Given the description of an element on the screen output the (x, y) to click on. 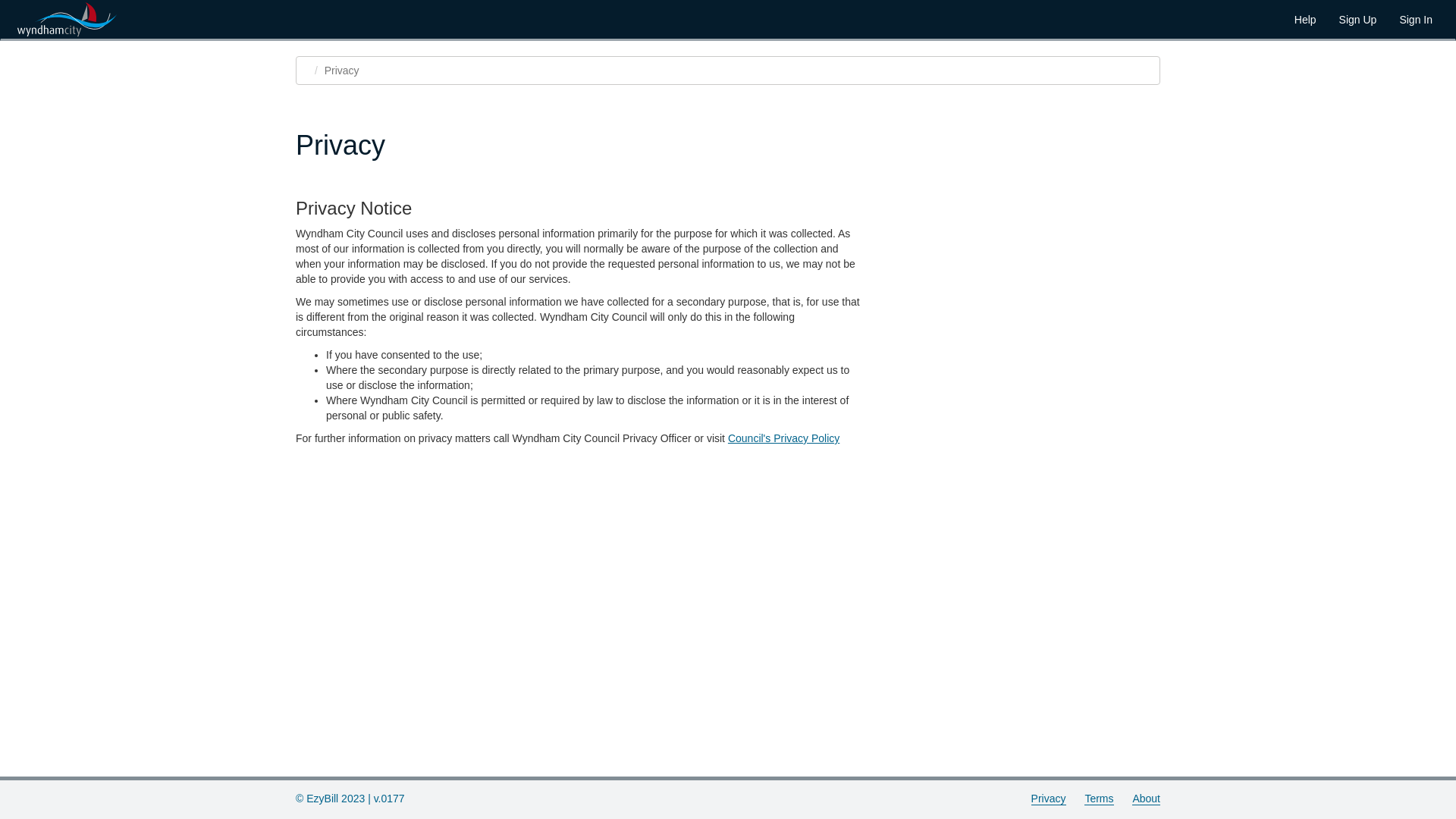
Sign Up Element type: text (1357, 19)
Council's Privacy Policy Element type: text (783, 438)
Sign In Element type: text (1415, 19)
Help Element type: text (1305, 19)
Privacy Element type: text (1048, 798)
Terms Element type: text (1098, 798)
Wyndham City Council Element type: text (68, 19)
About Element type: text (1146, 798)
